Given the description of an element on the screen output the (x, y) to click on. 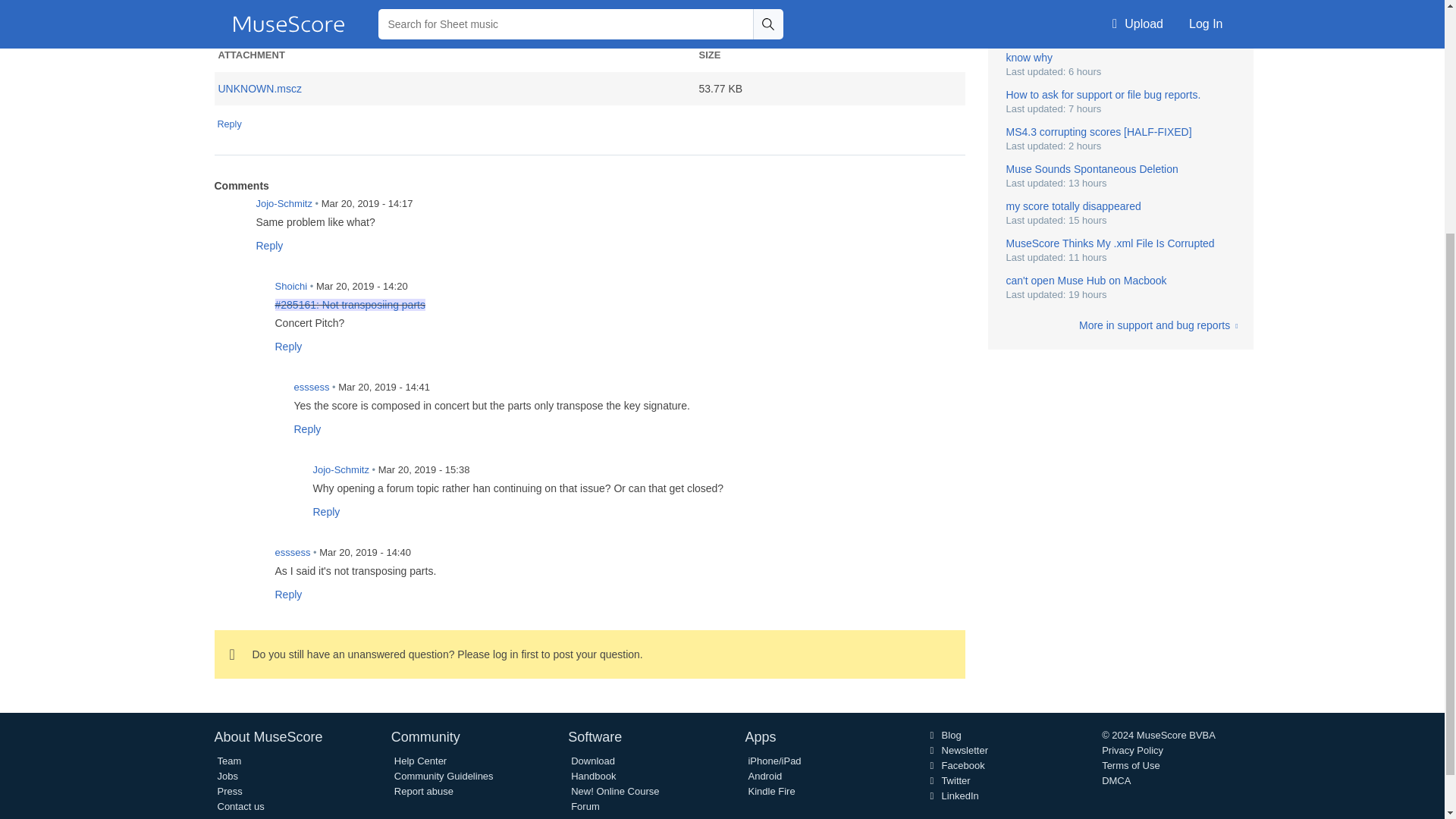
Jojo-Schmitz (285, 479)
Jojo-Schmitz (229, 213)
Status: duplicate (350, 304)
Shoichi (247, 295)
esssess (247, 562)
esssess (266, 396)
